Given the description of an element on the screen output the (x, y) to click on. 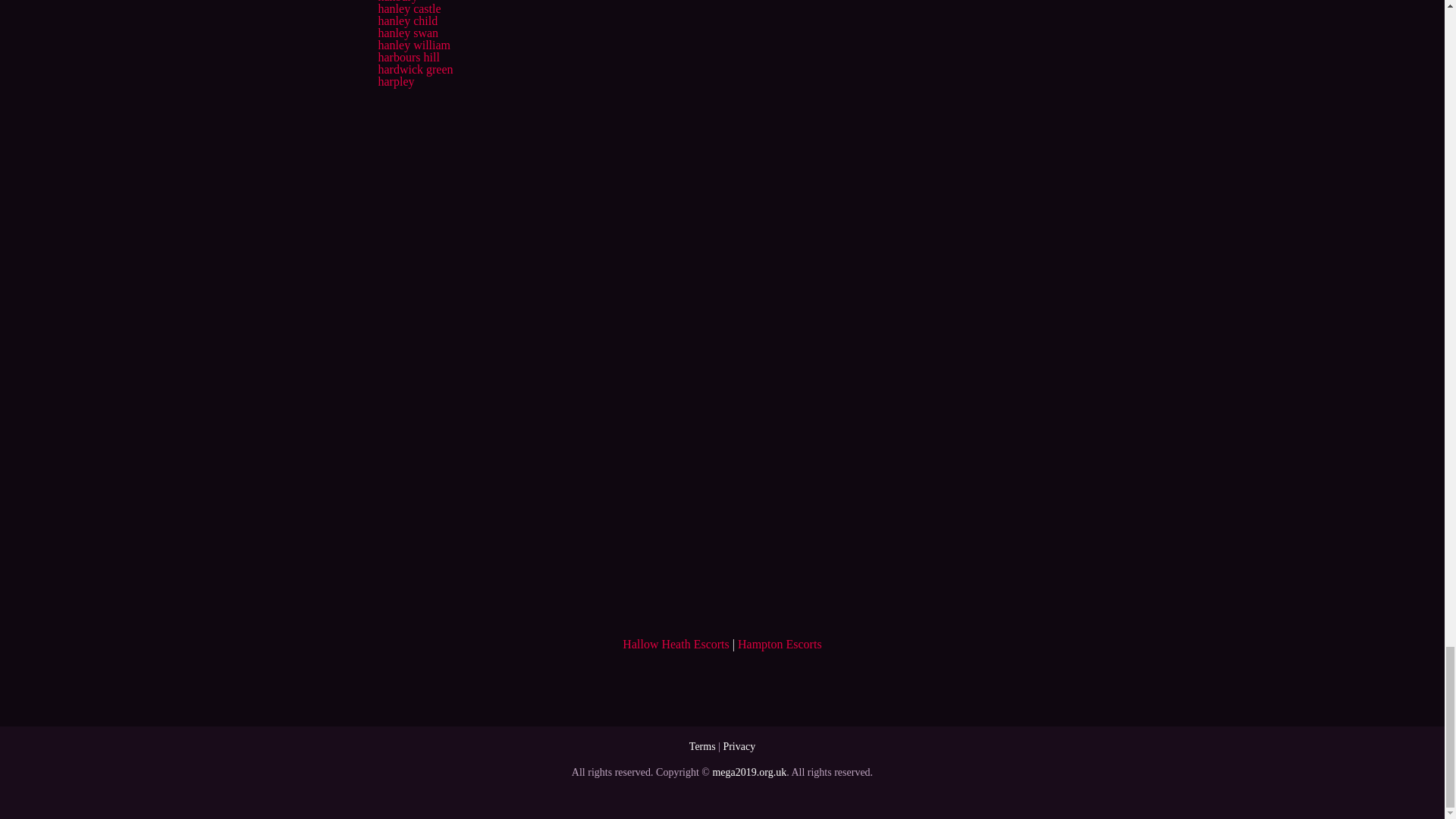
Hallow Heath Escorts (676, 644)
harpley (395, 81)
Terms (702, 746)
mega2019.org.uk (748, 772)
hanbury (396, 1)
hardwick green (414, 69)
hanley child (407, 20)
Privacy (738, 746)
Privacy (738, 746)
Hampton Escorts (780, 644)
harbours hill (408, 56)
Terms (702, 746)
hanley william (413, 44)
hanley swan (407, 32)
hanley castle (409, 8)
